Given the description of an element on the screen output the (x, y) to click on. 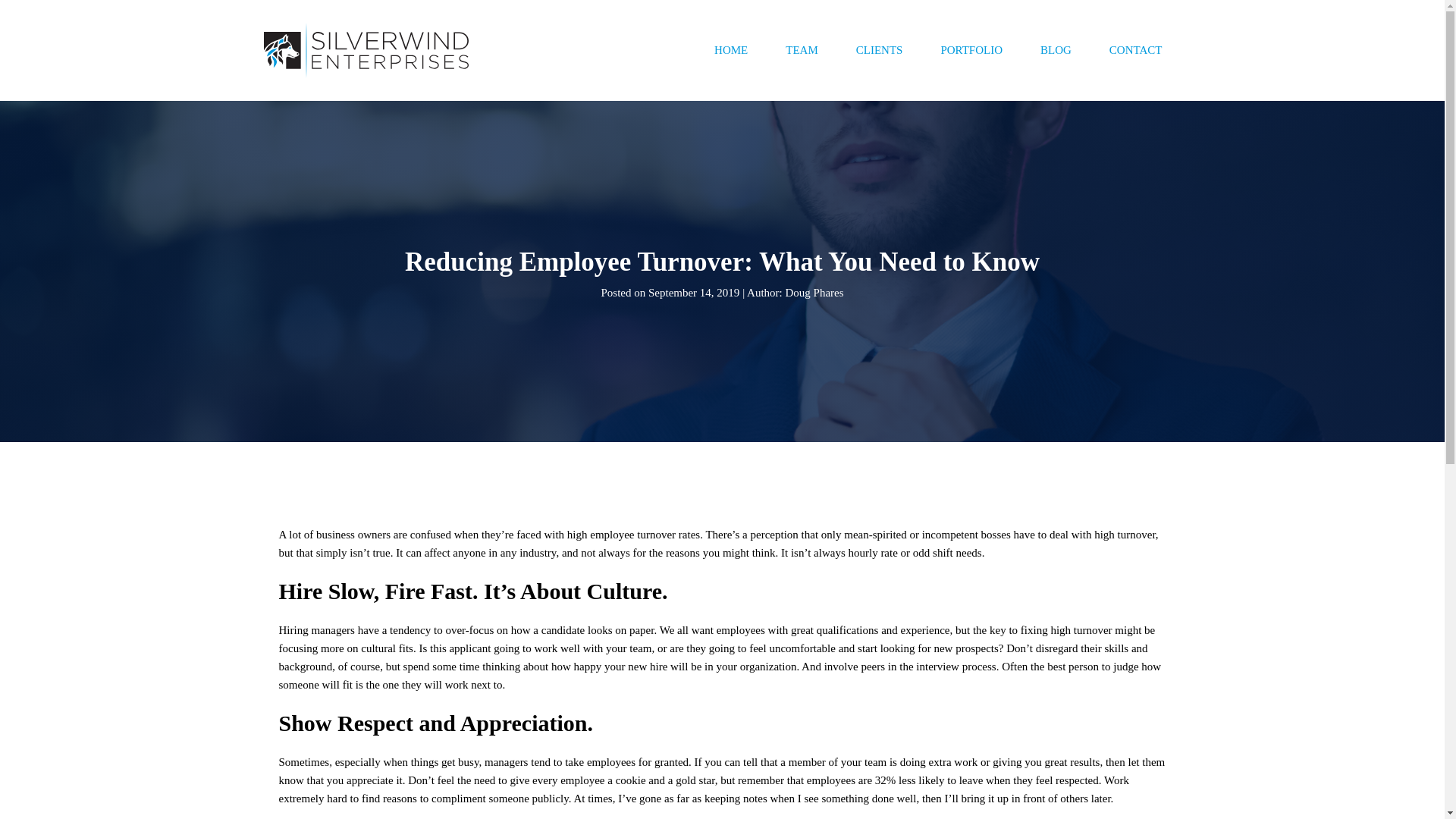
PORTFOLIO (970, 49)
TEAM (801, 49)
BLOG (1056, 49)
HOME (730, 49)
CLIENTS (879, 49)
CONTACT (1135, 49)
